Given the description of an element on the screen output the (x, y) to click on. 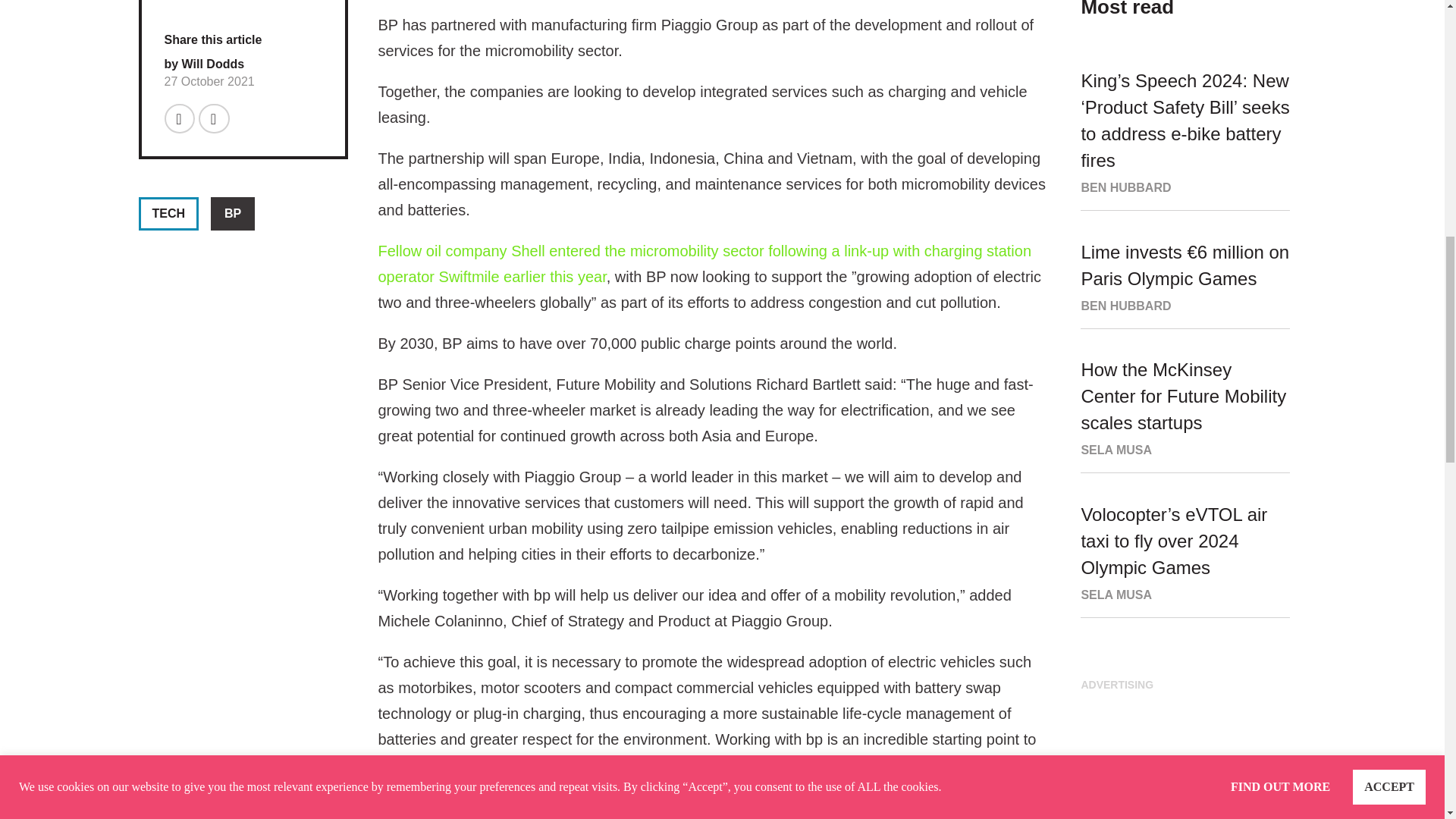
TECH (168, 213)
BP (232, 213)
BEN HUBBARD (1125, 187)
How the McKinsey Center for Future Mobility scales startups (1182, 396)
SELA MUSA (1115, 449)
BEN HUBBARD (1125, 305)
by Will Dodds (203, 64)
SELA MUSA (1115, 594)
